Given the description of an element on the screen output the (x, y) to click on. 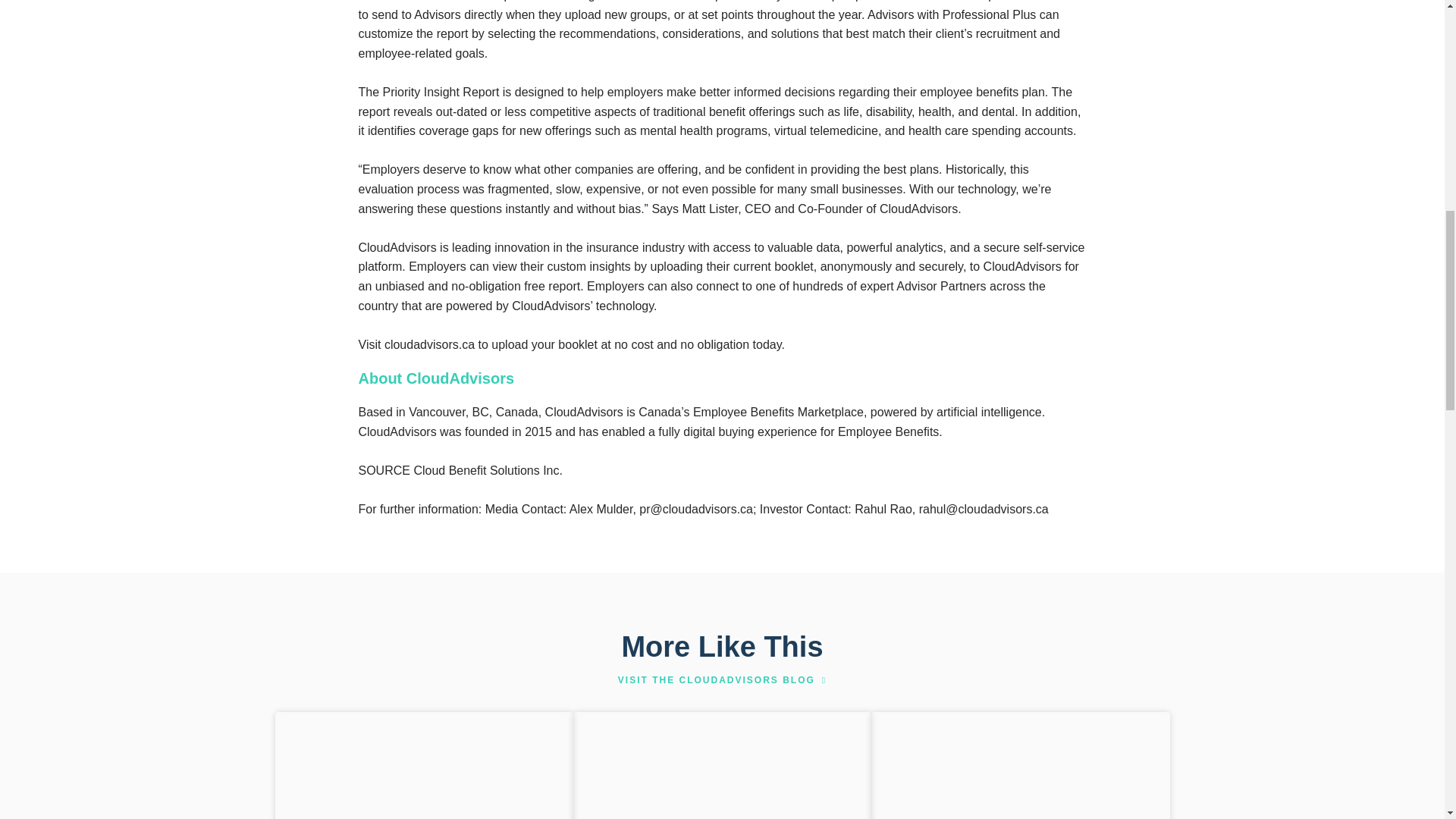
VISIT THE CLOUDADVISORS BLOG (722, 680)
